Given the description of an element on the screen output the (x, y) to click on. 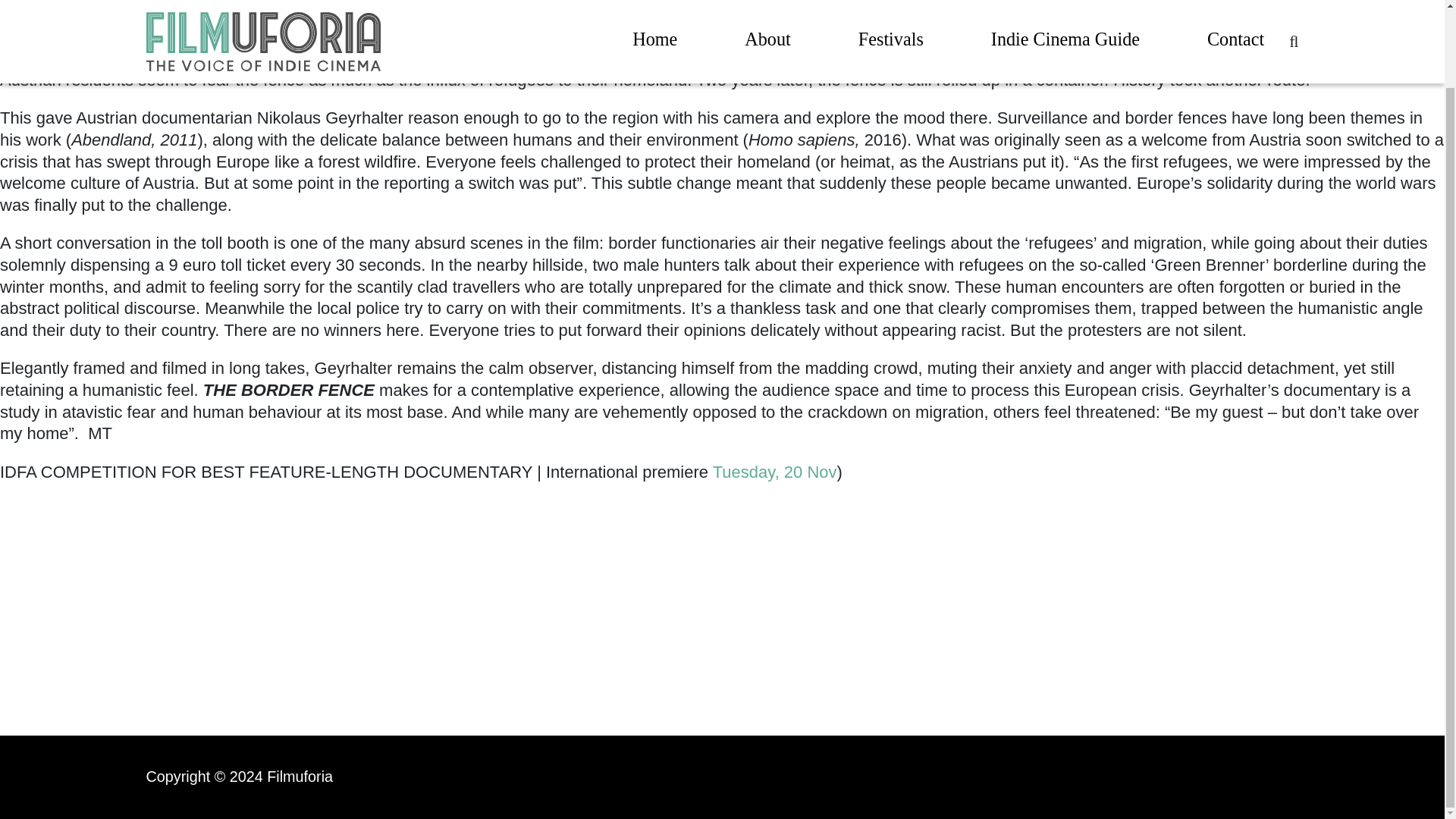
Tuesday, 20 Nov (775, 471)
